Given the description of an element on the screen output the (x, y) to click on. 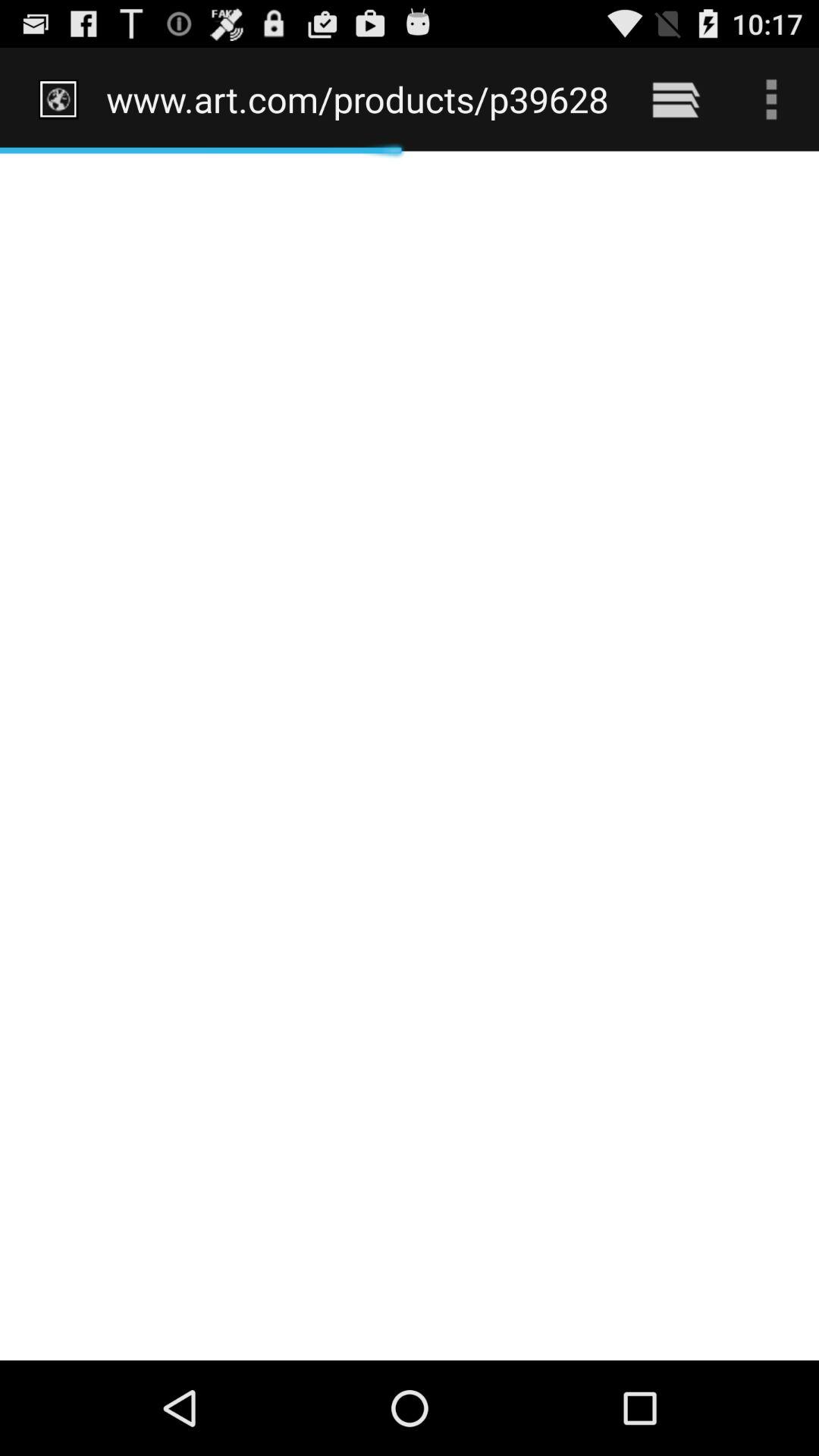
tap the icon at the center (409, 755)
